Given the description of an element on the screen output the (x, y) to click on. 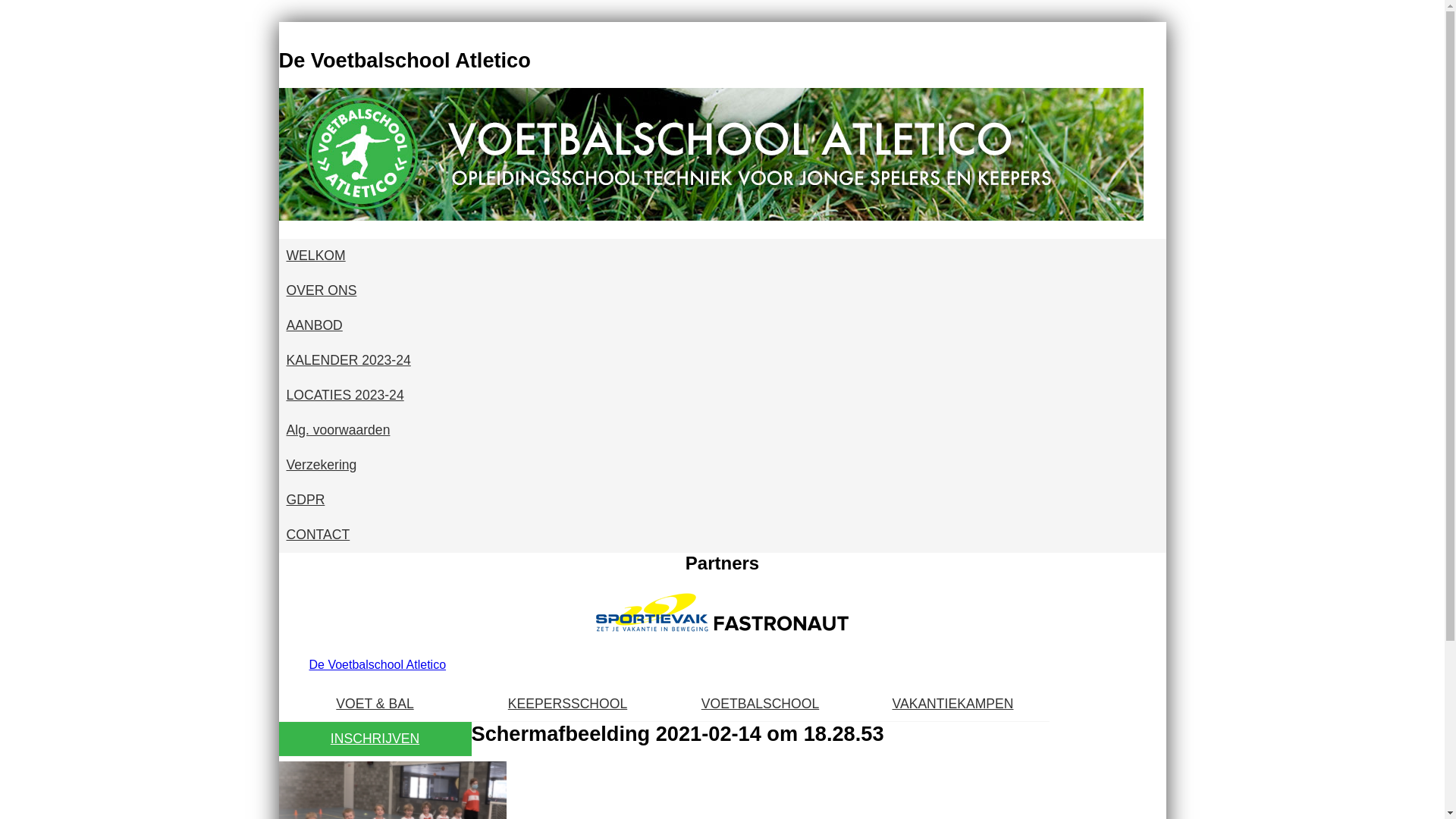
De Voetbalschool Atletico Element type: text (377, 664)
LOCATIES 2023-24 Element type: text (722, 395)
INSCHRIJVEN Element type: text (375, 738)
KALENDER 2023-24 Element type: text (722, 360)
WELKOM Element type: text (722, 255)
VAKANTIEKAMPEN Element type: text (952, 704)
VOETBALSCHOOL Element type: text (760, 704)
GDPR Element type: text (722, 500)
OVER ONS Element type: text (722, 290)
Verzekering Element type: text (722, 465)
Alg. voorwaarden Element type: text (722, 430)
AANBOD Element type: text (722, 325)
VOET & BAL Element type: text (375, 704)
KEEPERSSCHOOL Element type: text (567, 704)
CONTACT Element type: text (722, 534)
